Given the description of an element on the screen output the (x, y) to click on. 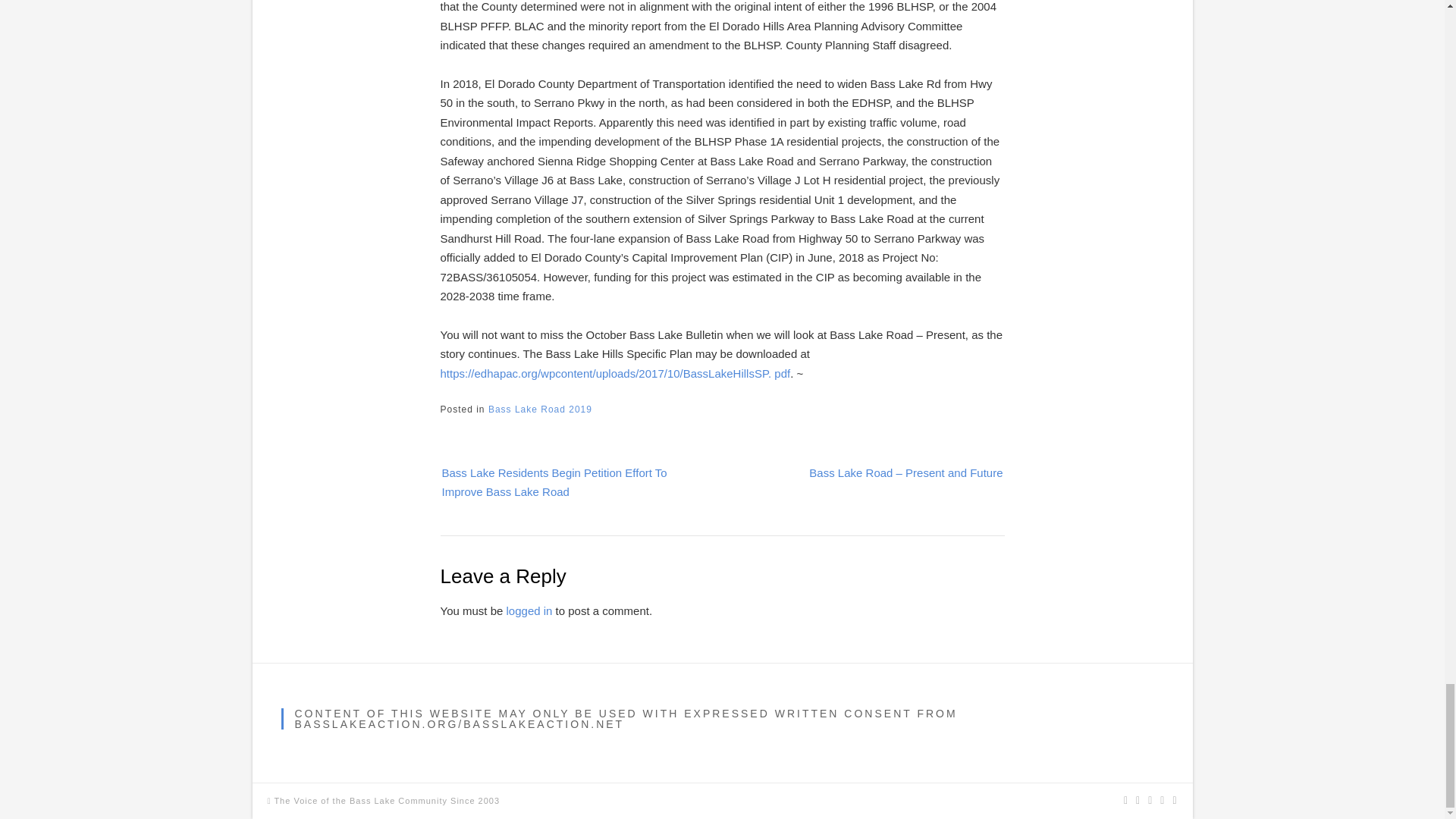
Bass Lake Road 2019 (539, 409)
logged in (529, 610)
